Given the description of an element on the screen output the (x, y) to click on. 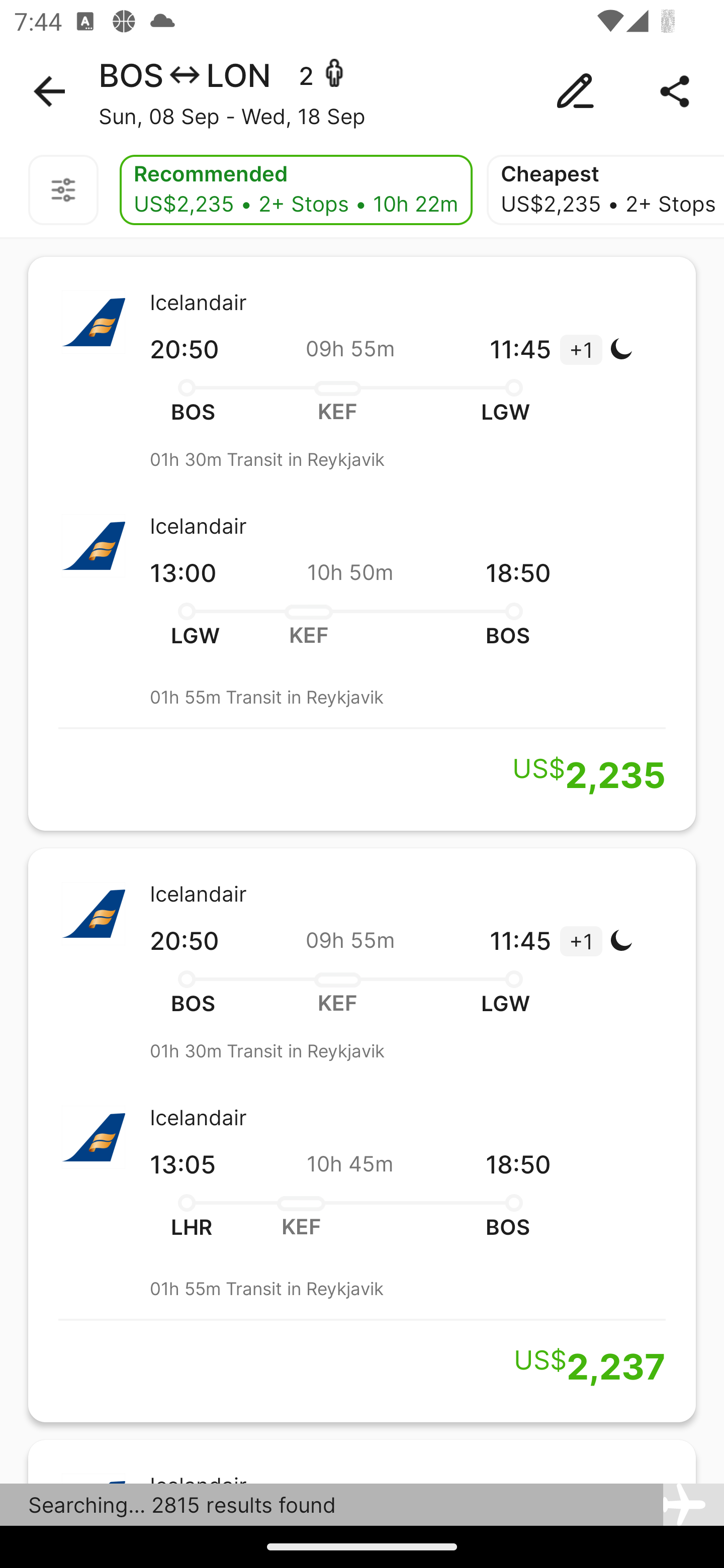
BOS LON   2 - Sun, 08 Sep - Wed, 18 Sep (361, 91)
Recommended  US$2,235 • 2+ Stops • 10h 22m (295, 190)
Cheapest US$2,235 • 2+ Stops • 11h 57m (605, 190)
